Given the description of an element on the screen output the (x, y) to click on. 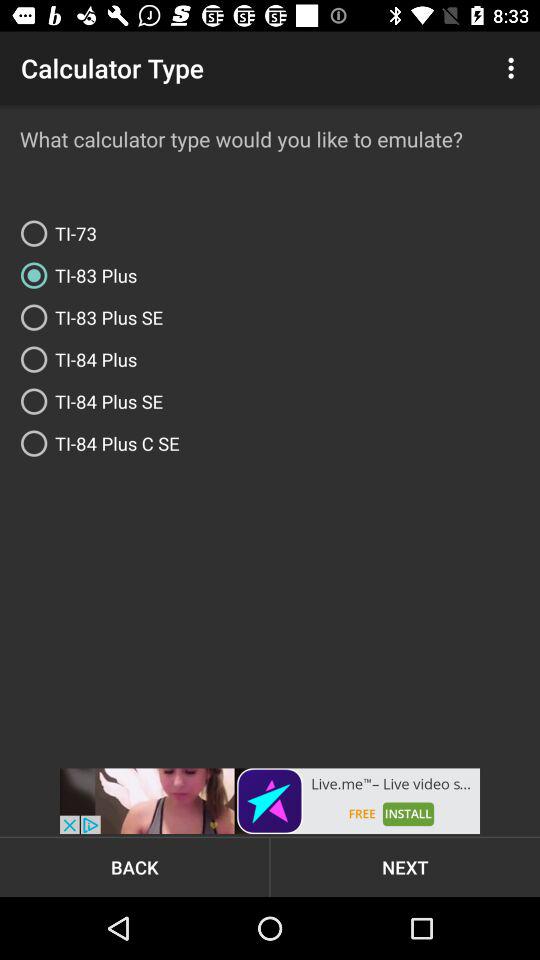
view the advertisement (270, 801)
